Given the description of an element on the screen output the (x, y) to click on. 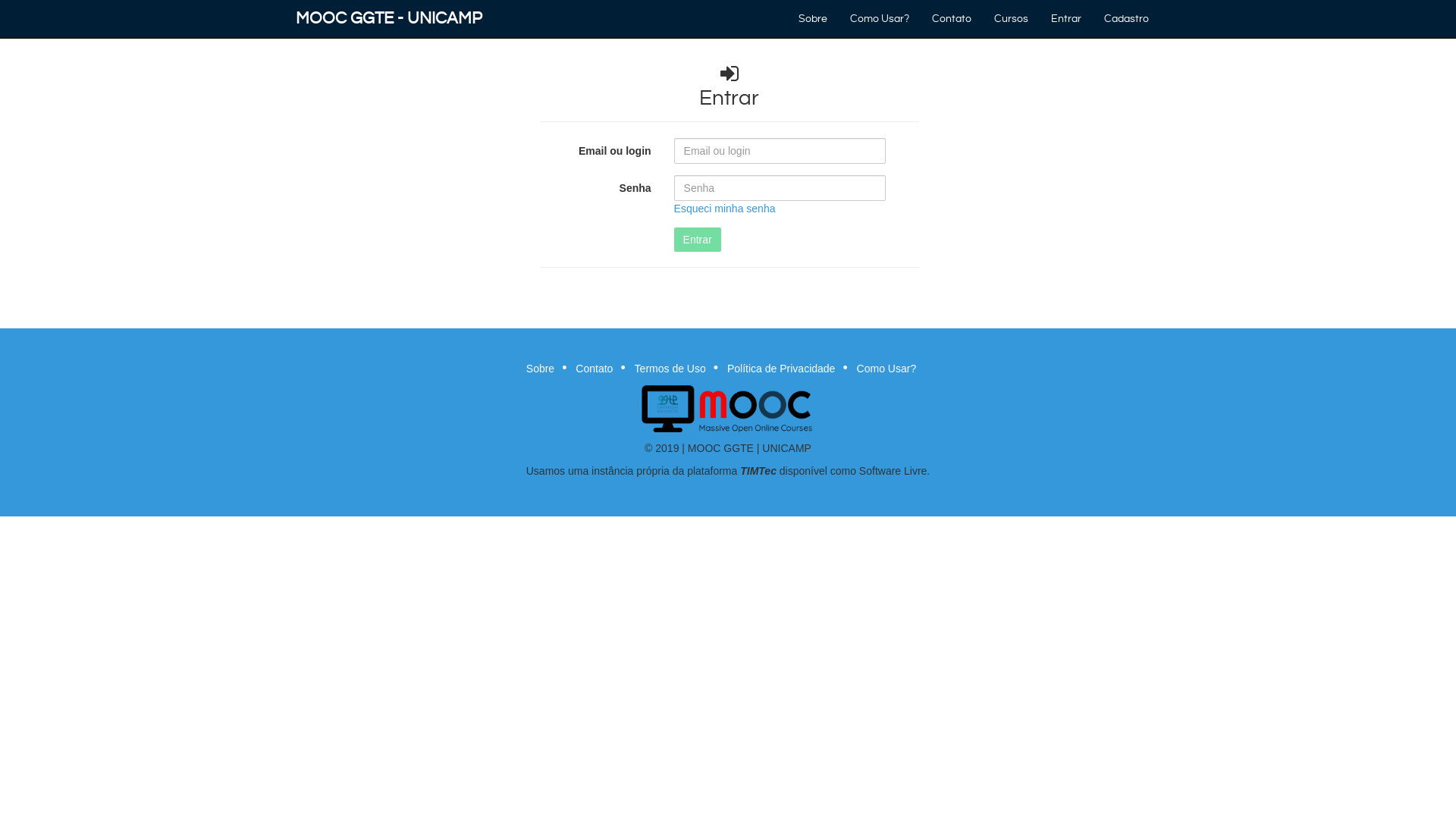
Termos de Uso Element type: text (670, 368)
Entrar Element type: text (697, 239)
Contato Element type: text (593, 368)
MOOC GGTE - UNICAMP Element type: text (388, 18)
Entrar Element type: text (1065, 18)
Sobre Element type: text (540, 368)
Como Usar? Element type: text (886, 368)
Sobre Element type: text (812, 18)
Esqueci minha senha Element type: text (724, 208)
Cursos Element type: text (1010, 18)
Cadastro Element type: text (1126, 18)
Contato Element type: text (951, 18)
Como Usar? Element type: text (879, 18)
